Given the description of an element on the screen output the (x, y) to click on. 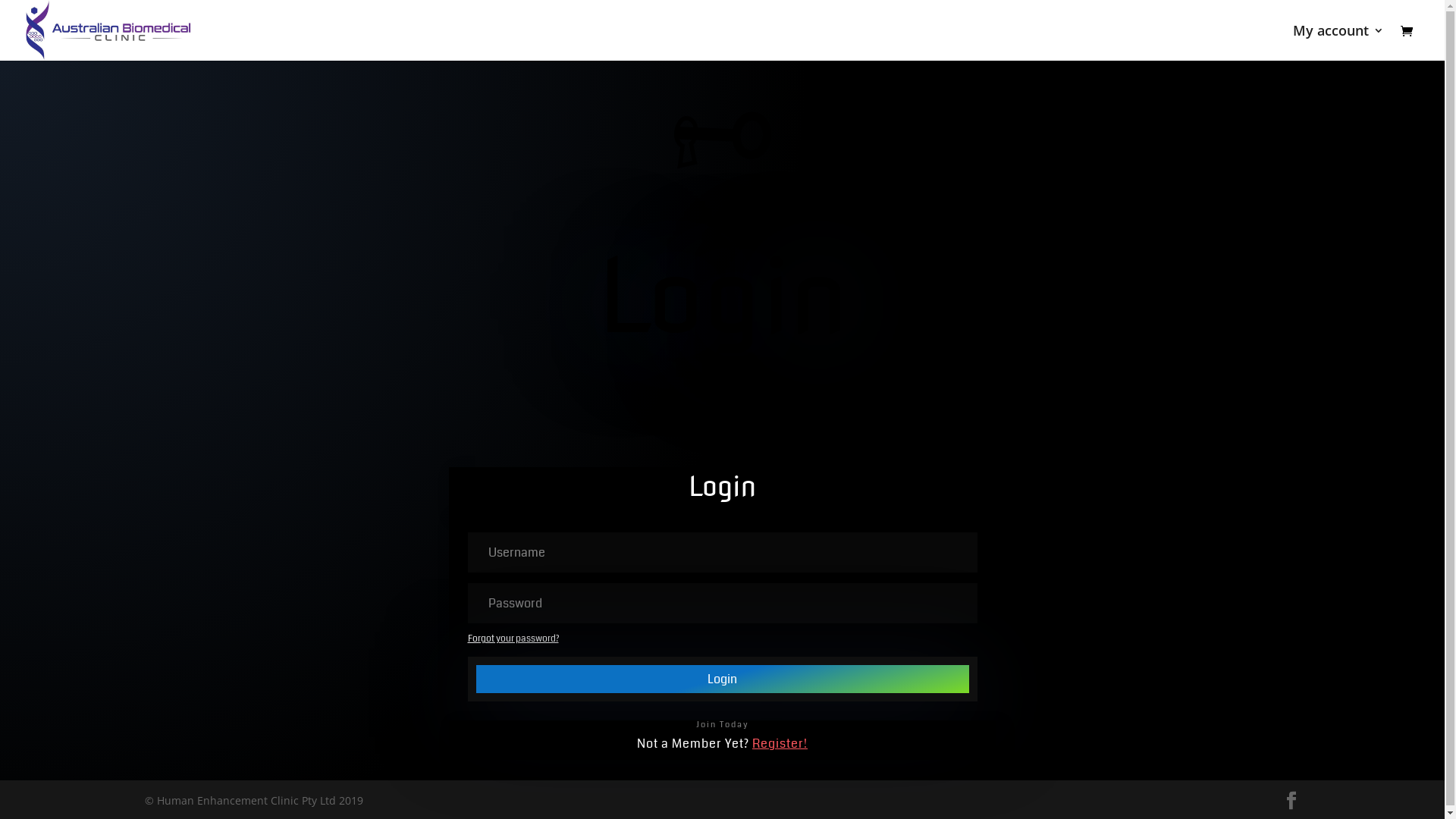
Login Element type: text (721, 678)
Forgot your password? Element type: text (512, 638)
Register! Element type: text (779, 743)
My account Element type: text (1337, 42)
